Given the description of an element on the screen output the (x, y) to click on. 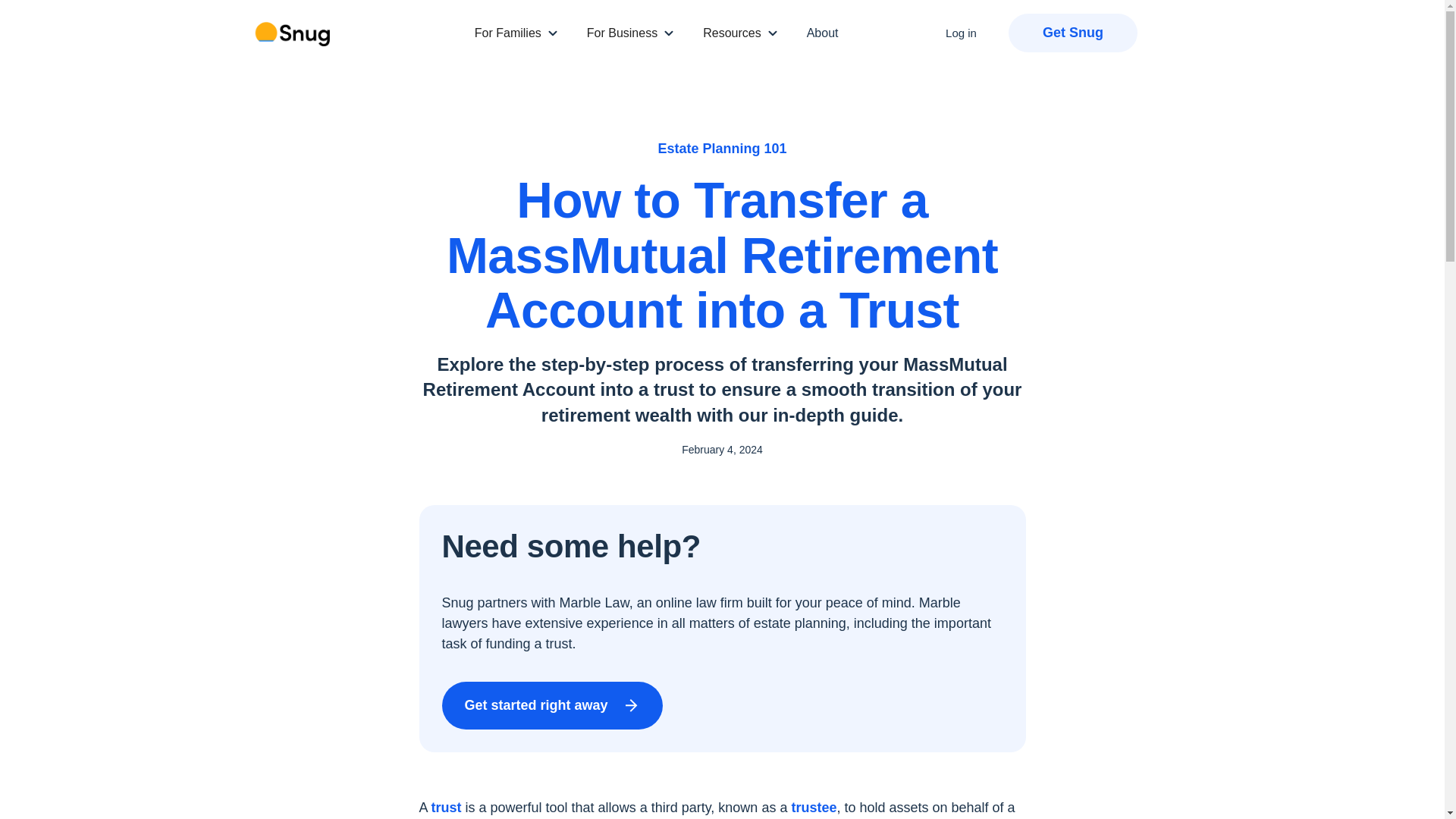
Get Snug (1073, 32)
Estate Planning 101 (722, 148)
About (822, 32)
Get started right away (551, 705)
trust (445, 807)
Log in (960, 32)
trustee (812, 807)
